Given the description of an element on the screen output the (x, y) to click on. 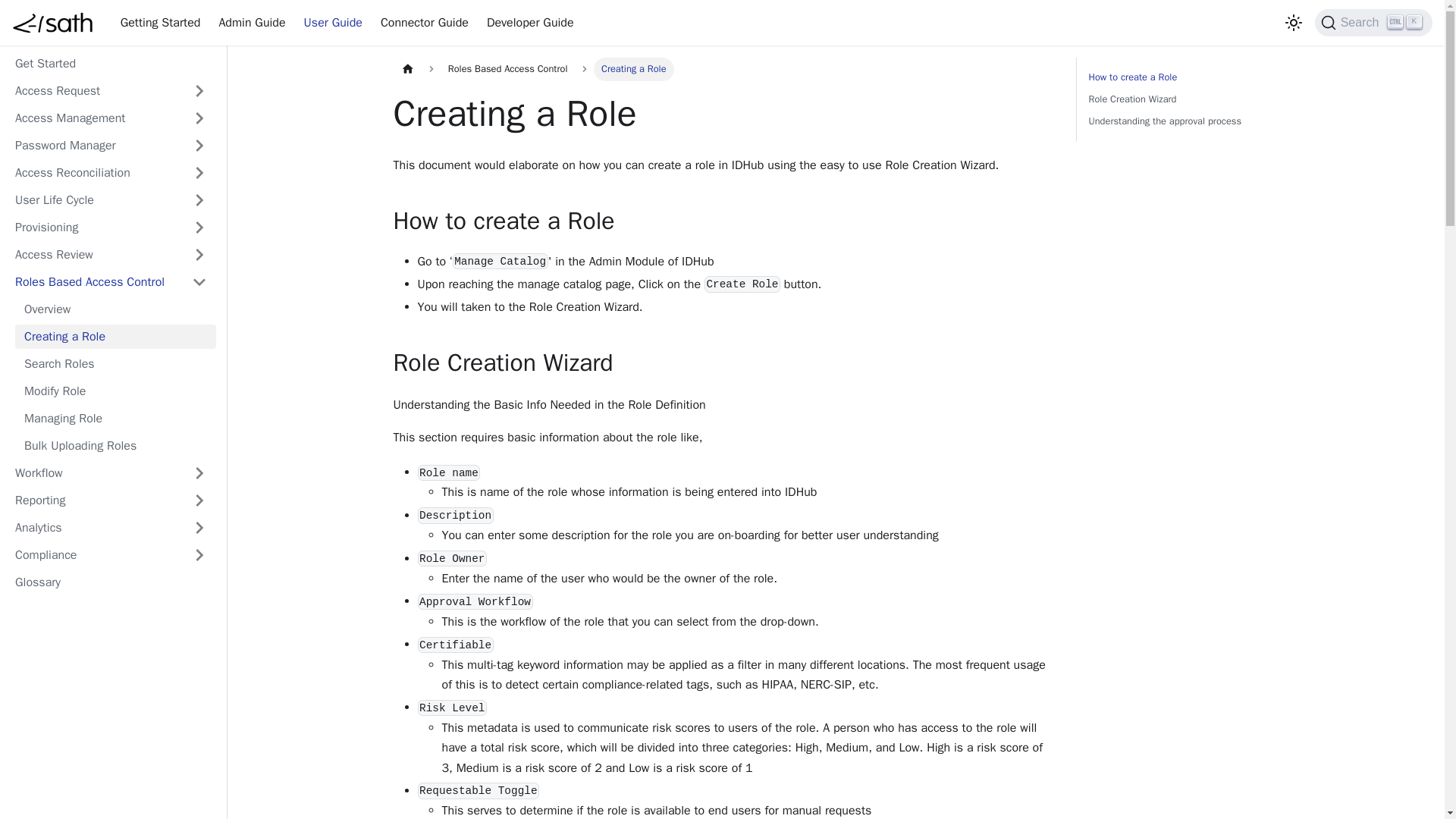
Workflow (110, 473)
Access Review (110, 254)
Managing Role (114, 418)
Compliance (110, 554)
Roles Based Access Control (110, 282)
Developer Guide (530, 22)
Search Roles (114, 363)
Getting Started (160, 22)
Admin Guide (251, 22)
User Guide (333, 22)
Modify Role (114, 391)
Reporting (110, 500)
Access Management (110, 118)
Analytics (110, 527)
